Given the description of an element on the screen output the (x, y) to click on. 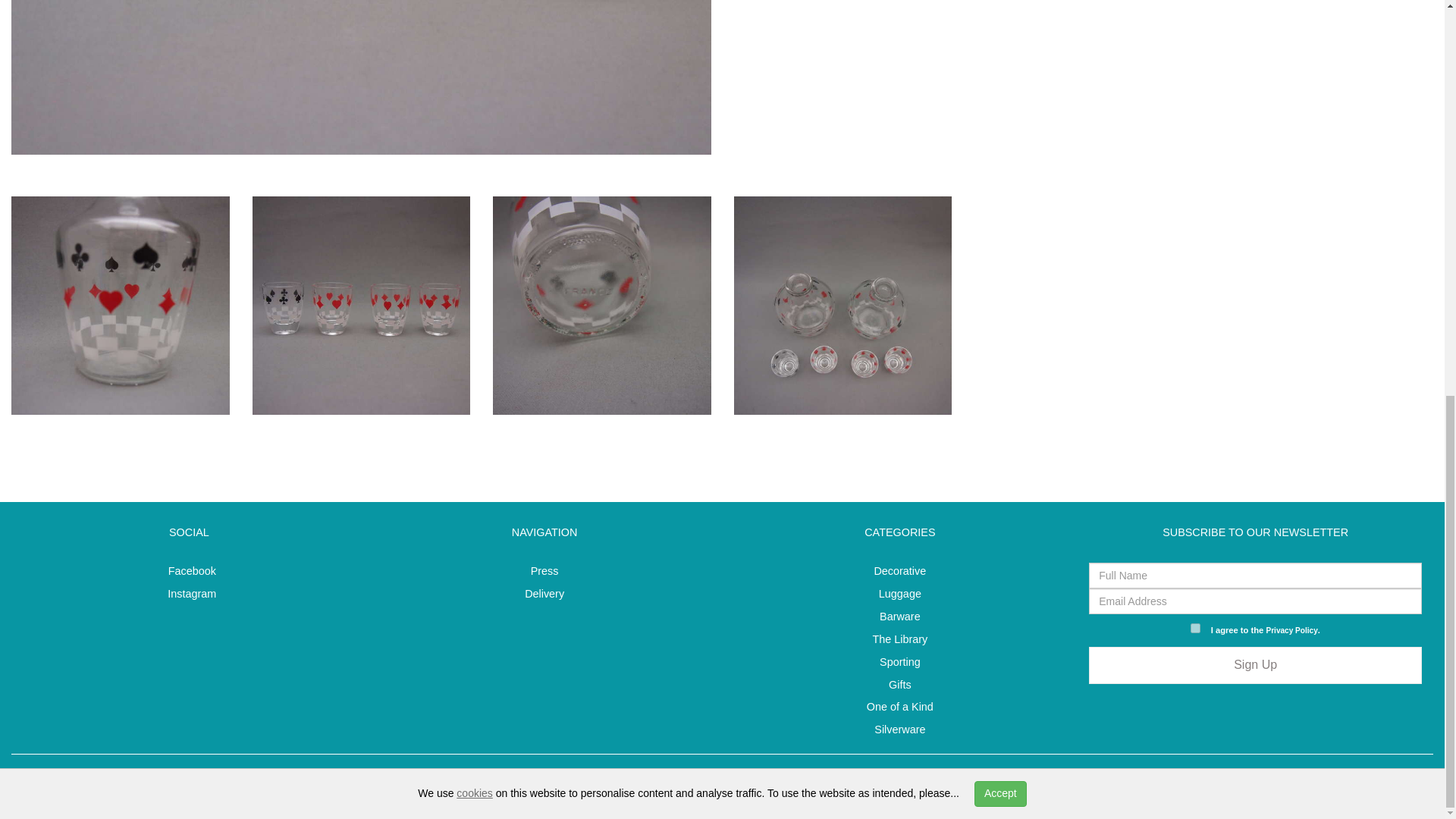
on (1195, 628)
The Library (899, 639)
Delivery (544, 593)
Press (545, 571)
  Instagram (188, 593)
Luggage (900, 593)
Sporting (899, 662)
Barware (899, 616)
Decorative (899, 571)
  Facebook (188, 571)
